Given the description of an element on the screen output the (x, y) to click on. 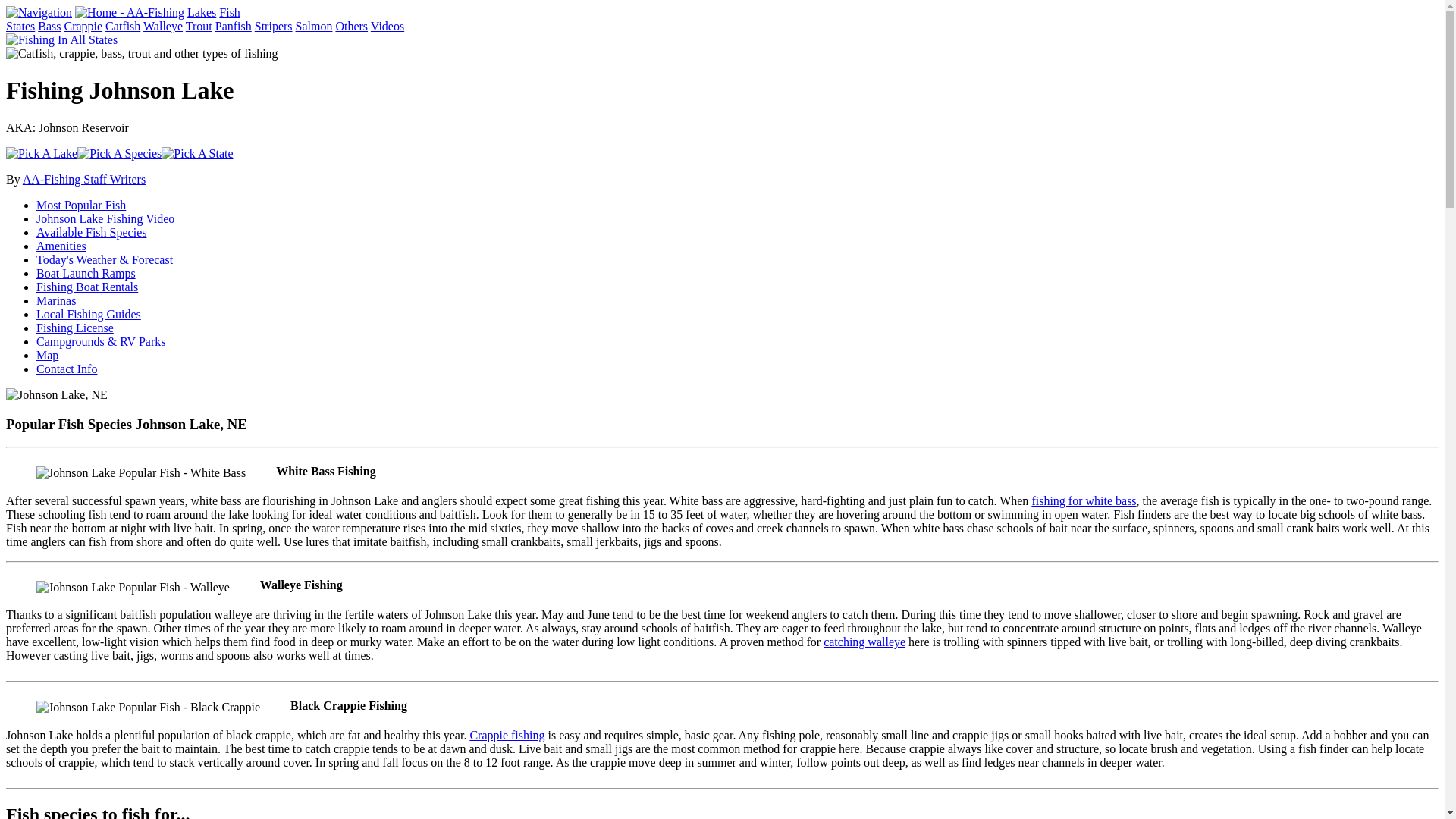
Bass Fishing (49, 25)
Catfish Fishing (121, 25)
Crappie Fishing (82, 25)
Salmon (314, 25)
Fishing Videos (387, 25)
Fishing Lakes (201, 11)
Fish Species (229, 11)
catching walleye (864, 641)
Select A Lake (41, 153)
Fishing License (74, 327)
